Given the description of an element on the screen output the (x, y) to click on. 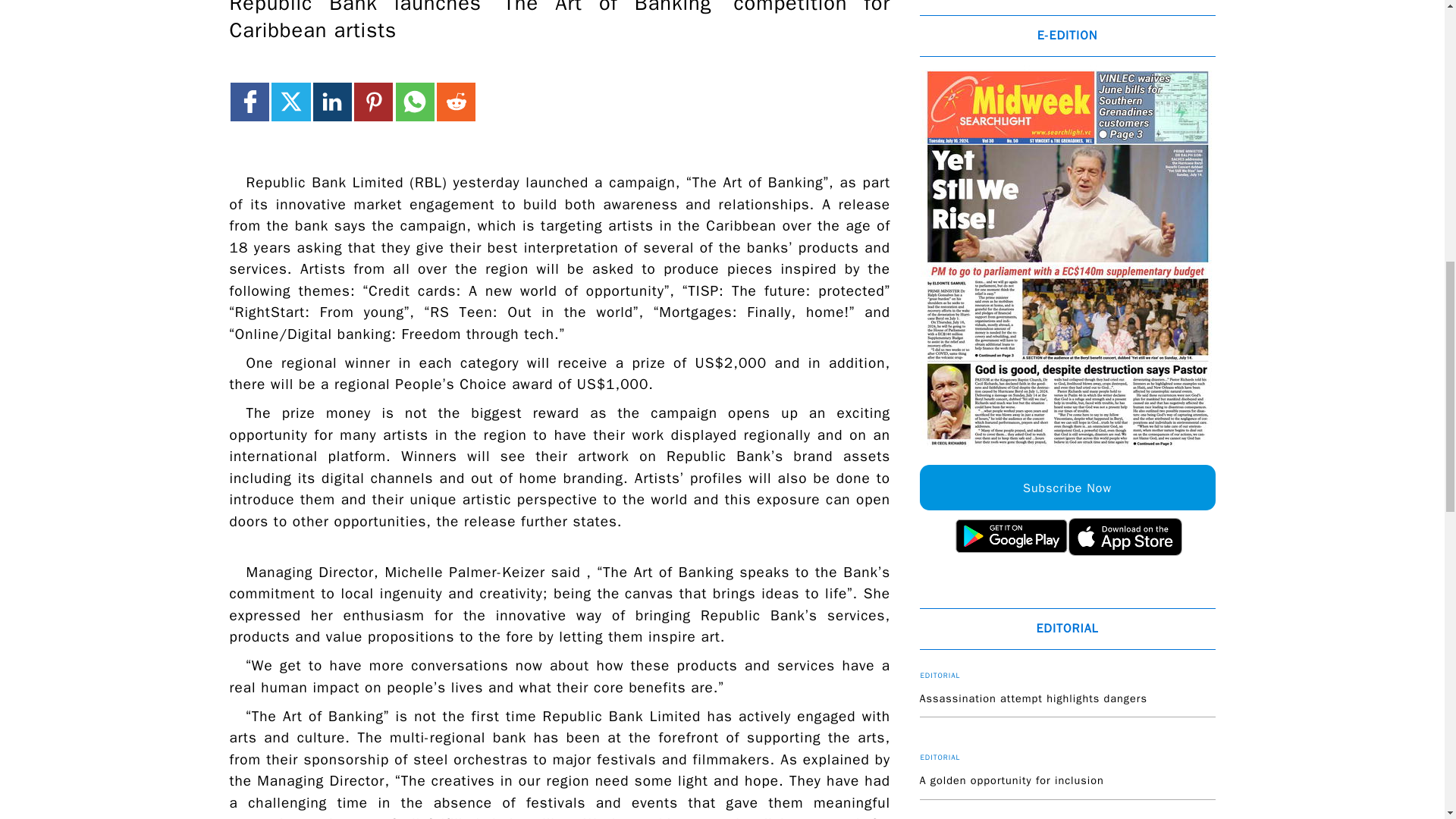
ePaper (1067, 258)
